Given the description of an element on the screen output the (x, y) to click on. 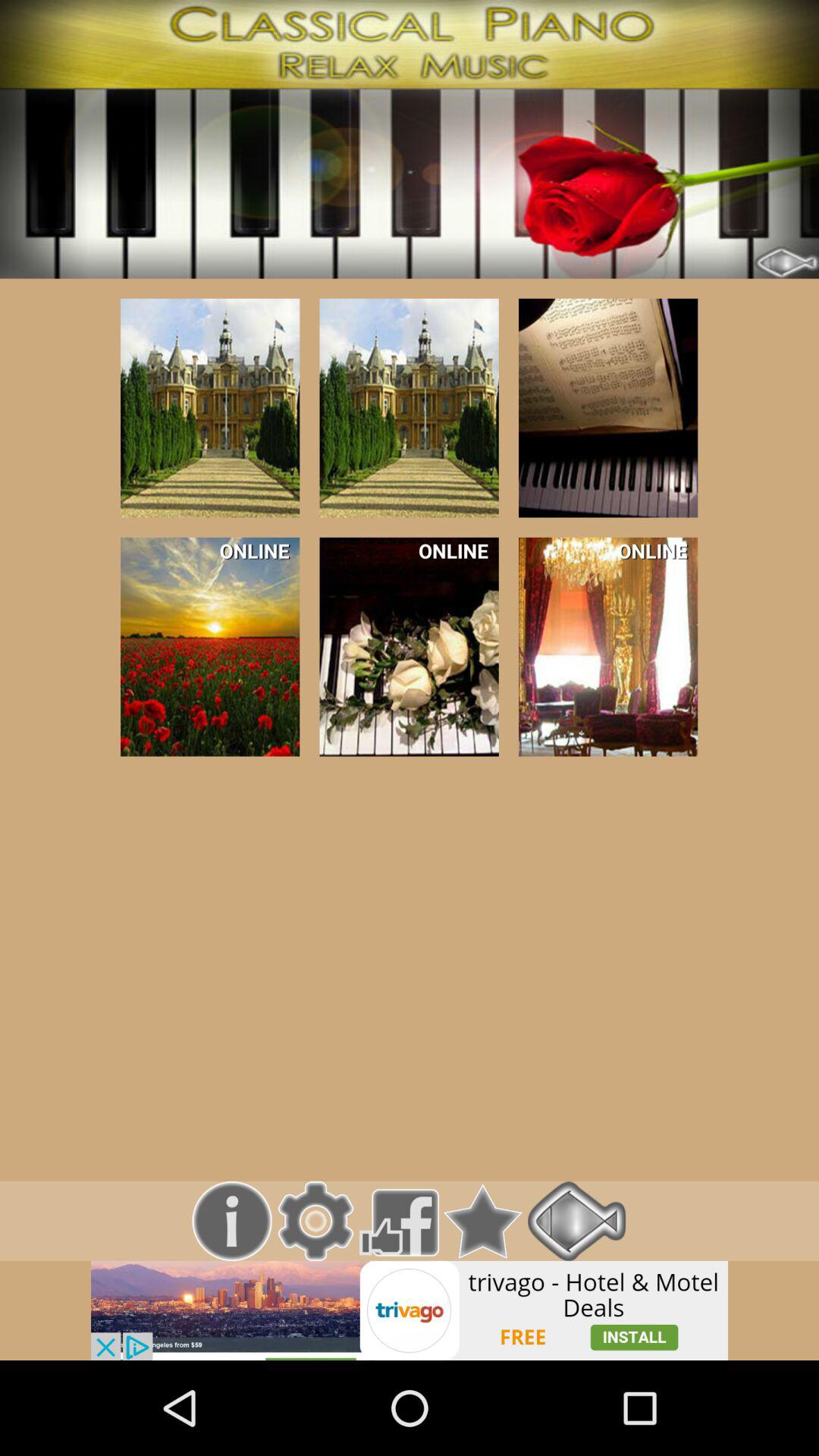
shows hotel motel detail option (409, 1310)
